Given the description of an element on the screen output the (x, y) to click on. 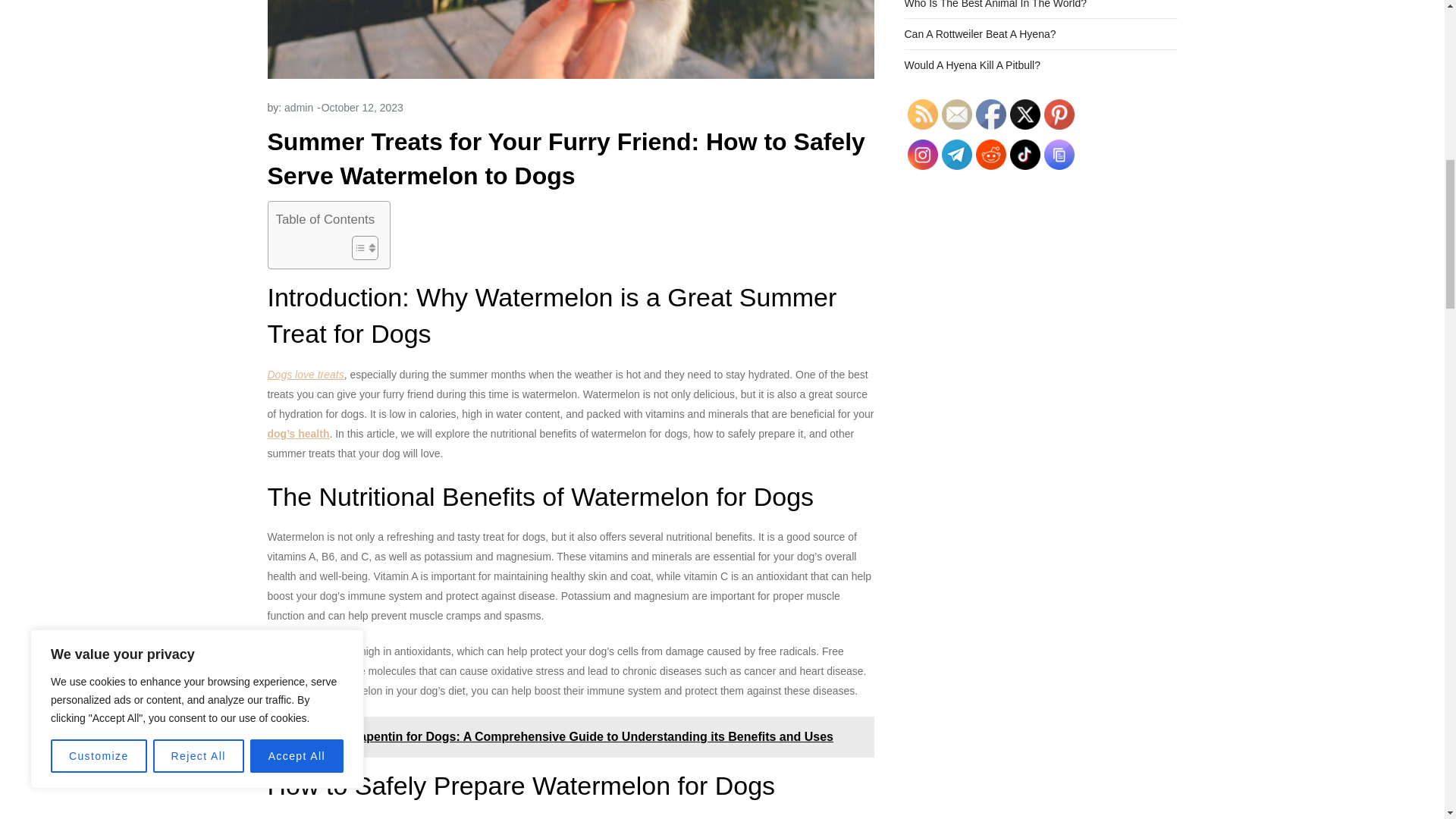
Dogs love treats (304, 374)
admin (298, 107)
October 12, 2023 (362, 107)
